Given the description of an element on the screen output the (x, y) to click on. 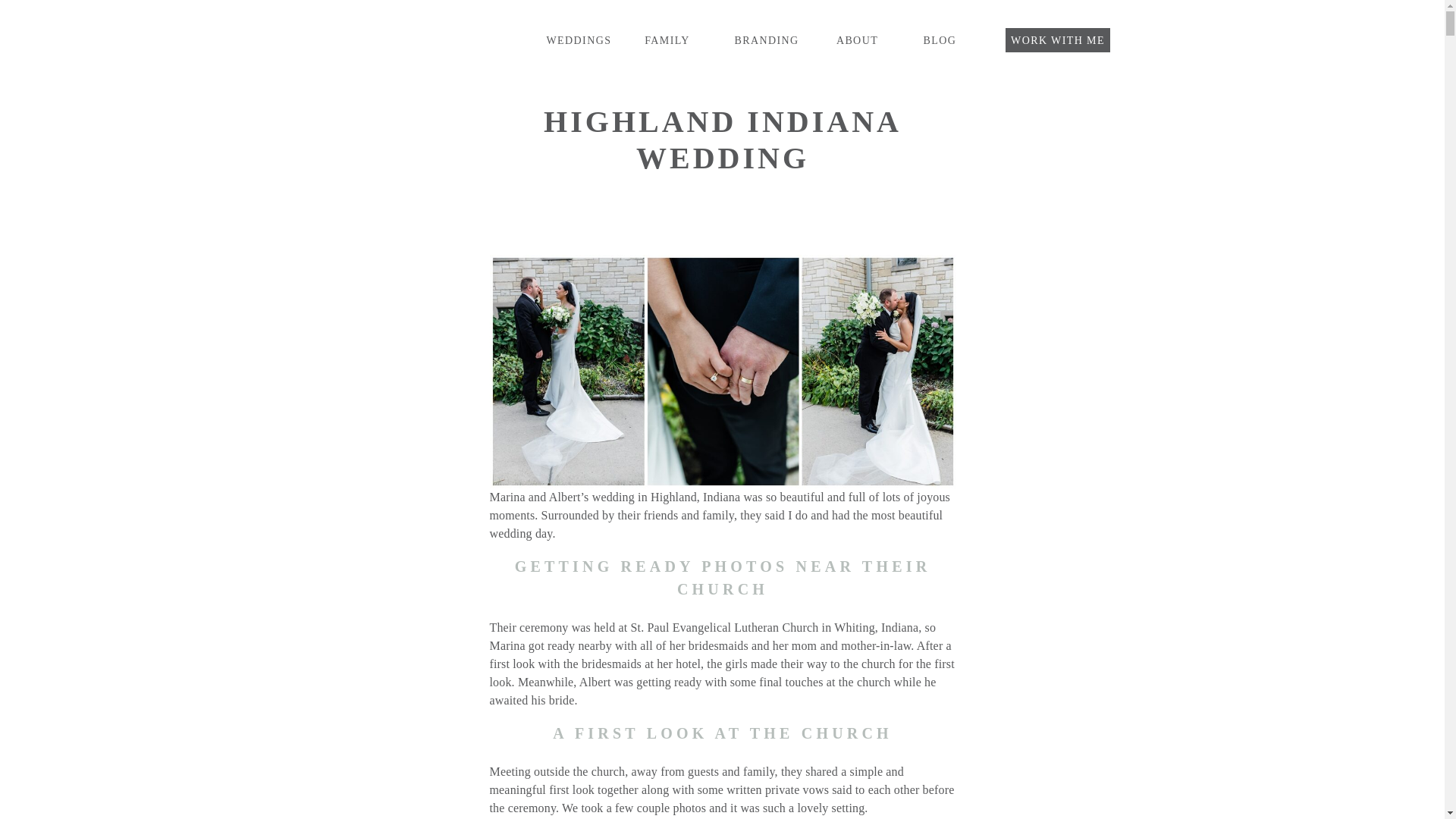
BRANDING (761, 41)
WORK WITH ME (1057, 41)
ABOUT (856, 41)
FAMILY (667, 40)
WEDDINGS (571, 40)
BLOG (939, 41)
